Given the description of an element on the screen output the (x, y) to click on. 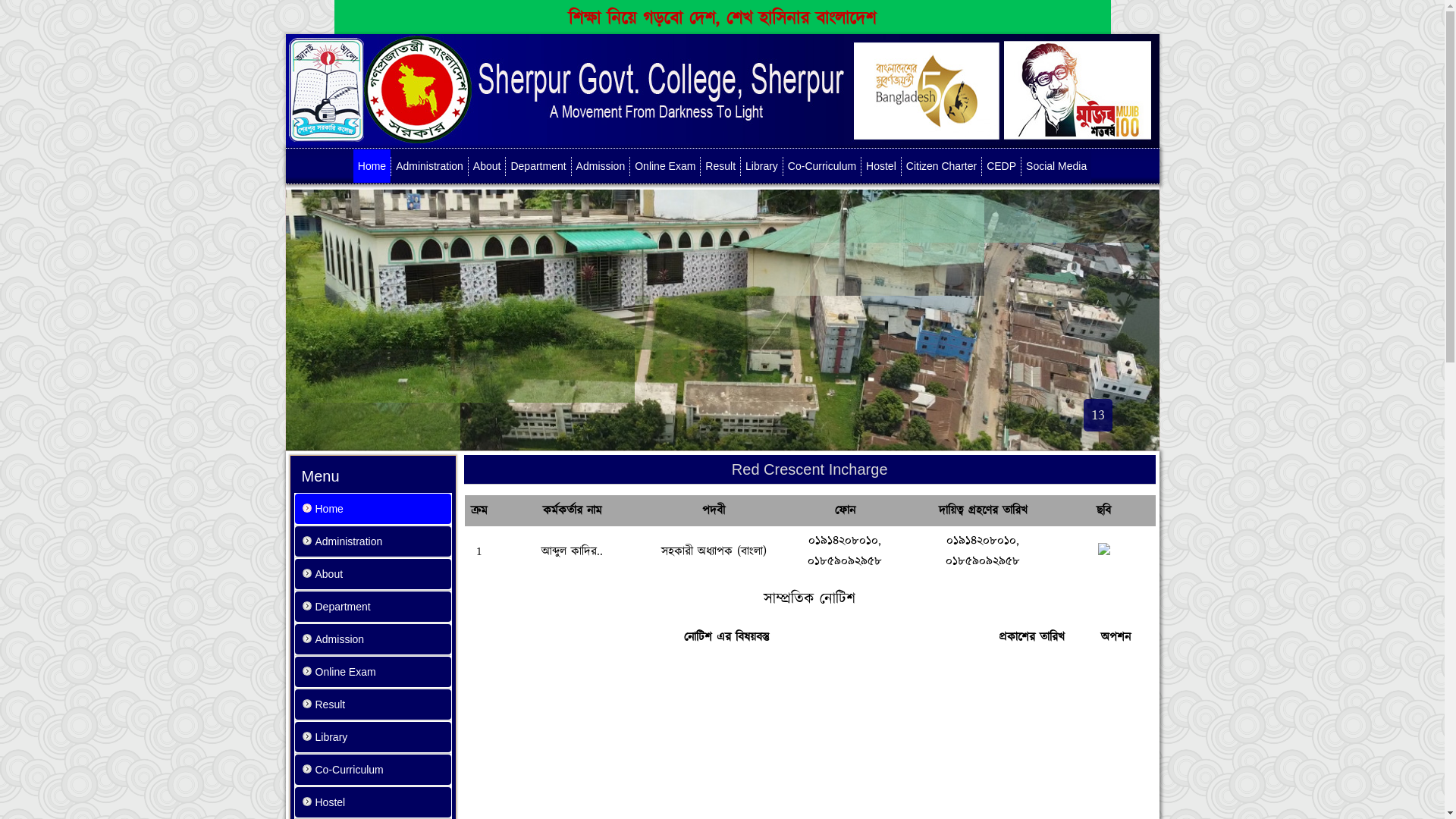
Co-Curriculum Element type: text (372, 769)
Co-Curriculum Element type: text (821, 165)
Administration Element type: text (429, 165)
Administration Element type: text (372, 541)
Online Exam Element type: text (664, 165)
Admission Element type: text (600, 165)
Result Element type: text (372, 704)
Hostel Element type: text (880, 165)
CEDP Element type: text (1001, 165)
Library Element type: text (372, 736)
Department Element type: text (372, 606)
Result Element type: text (720, 165)
About Element type: text (486, 165)
Social Media Element type: text (1056, 165)
Home Element type: text (371, 165)
About Element type: text (372, 573)
Hostel Element type: text (372, 802)
Department Element type: text (537, 165)
Online Exam Element type: text (372, 671)
Home Element type: text (372, 508)
Library Element type: text (761, 165)
Admission Element type: text (372, 639)
Citizen Charter Element type: text (941, 165)
